Given the description of an element on the screen output the (x, y) to click on. 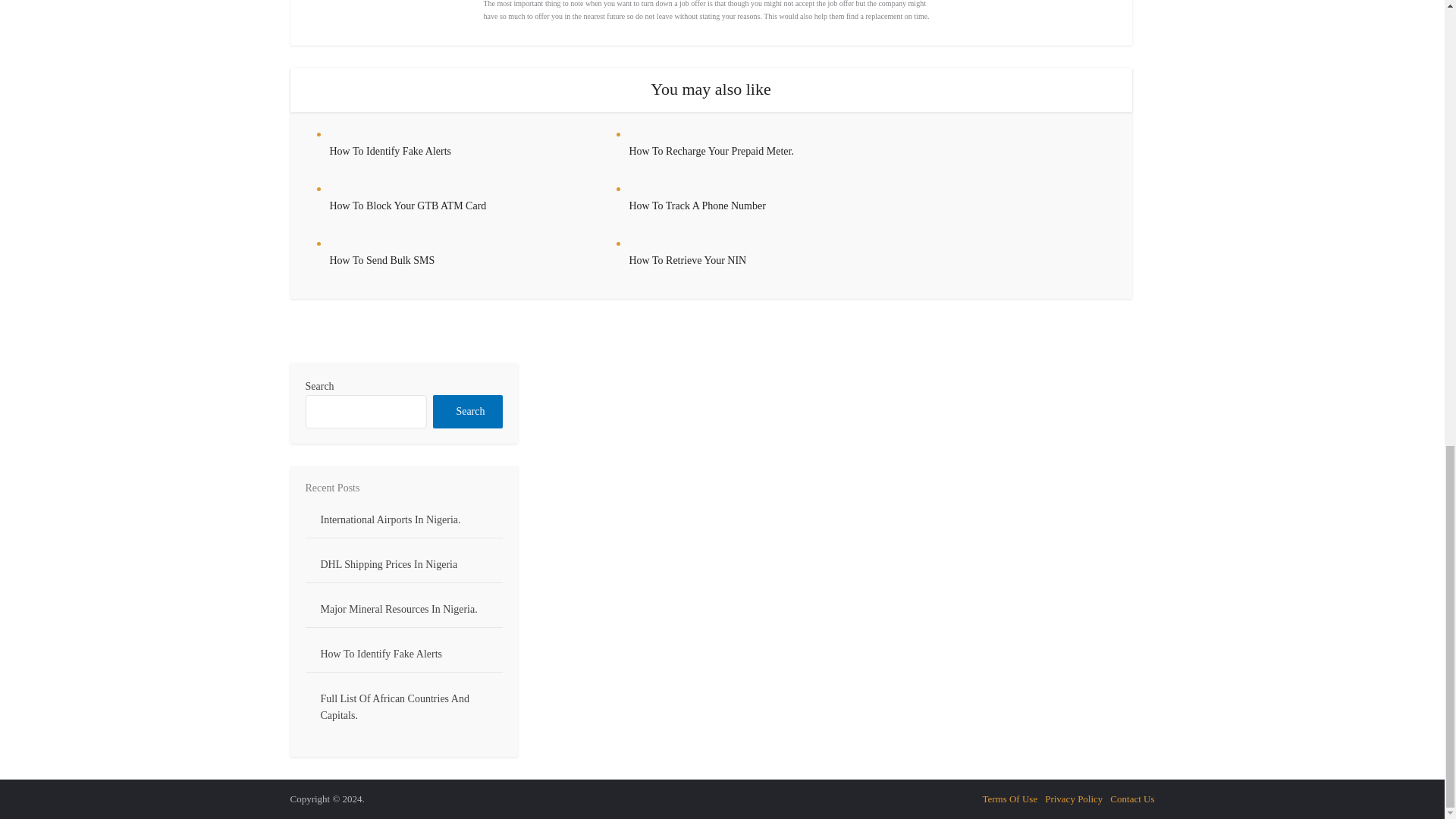
How To Block Your GTB ATM Card (407, 205)
Privacy Policy (1073, 798)
How To Retrieve Your NIN (687, 260)
Search (467, 411)
How To Send Bulk SMS (381, 260)
How To Send Bulk SMS (381, 260)
How To Recharge Your Prepaid Meter. (710, 151)
DHL Shipping Prices In Nigeria (388, 564)
Terms Of Use (1008, 798)
How To Track A Phone Number (696, 205)
How To Block Your GTB ATM Card (407, 205)
How To Recharge Your Prepaid Meter. (710, 151)
How To Retrieve Your NIN (687, 260)
How To Identify Fake Alerts (390, 151)
Major Mineral Resources In Nigeria. (398, 609)
